Given the description of an element on the screen output the (x, y) to click on. 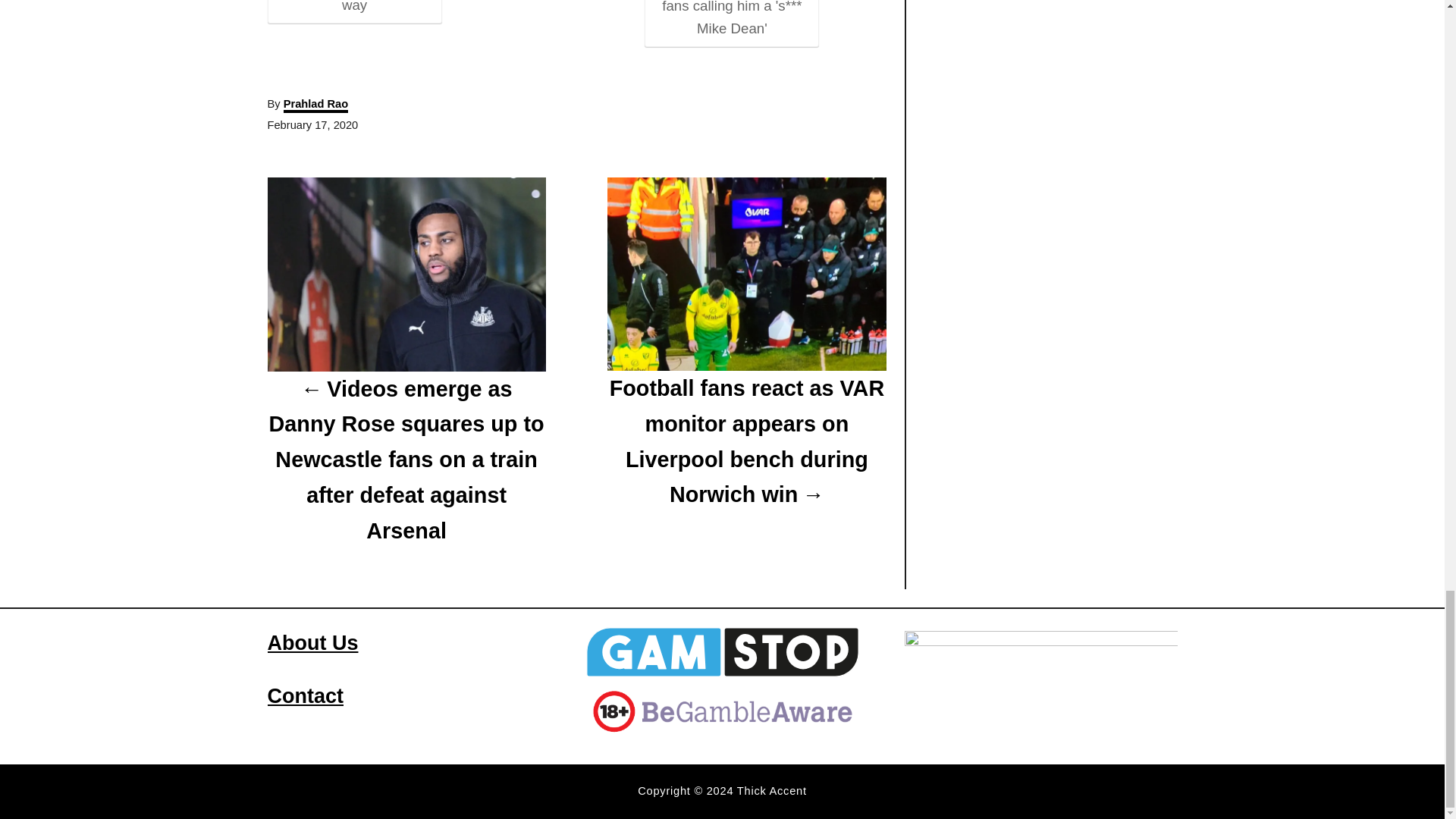
About Us (312, 642)
Contact (304, 695)
Prahlad Rao (316, 105)
